Given the description of an element on the screen output the (x, y) to click on. 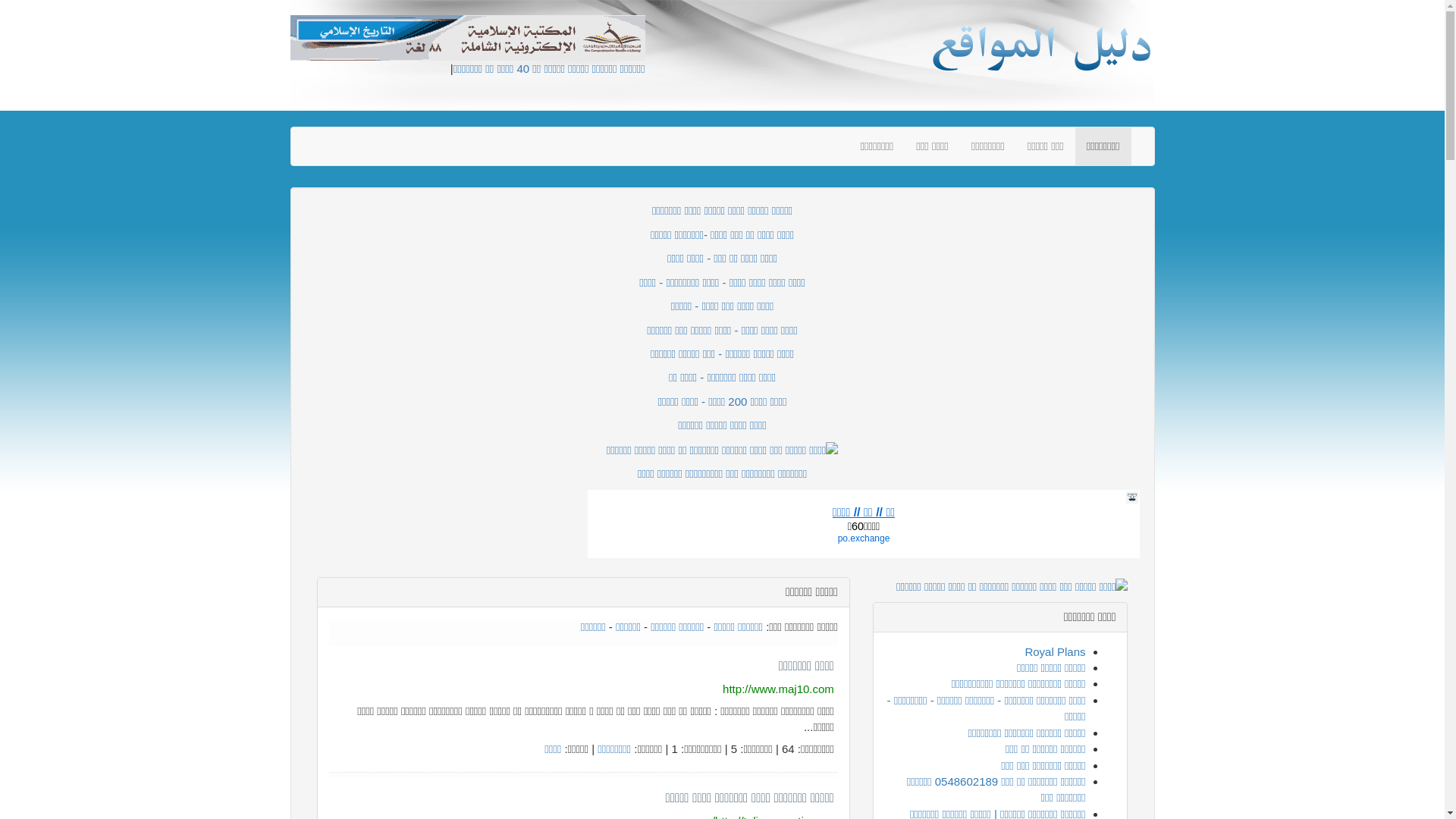
http://www.maj10.com Element type: text (778, 688)
Royal Plans Element type: text (1054, 651)
